Given the description of an element on the screen output the (x, y) to click on. 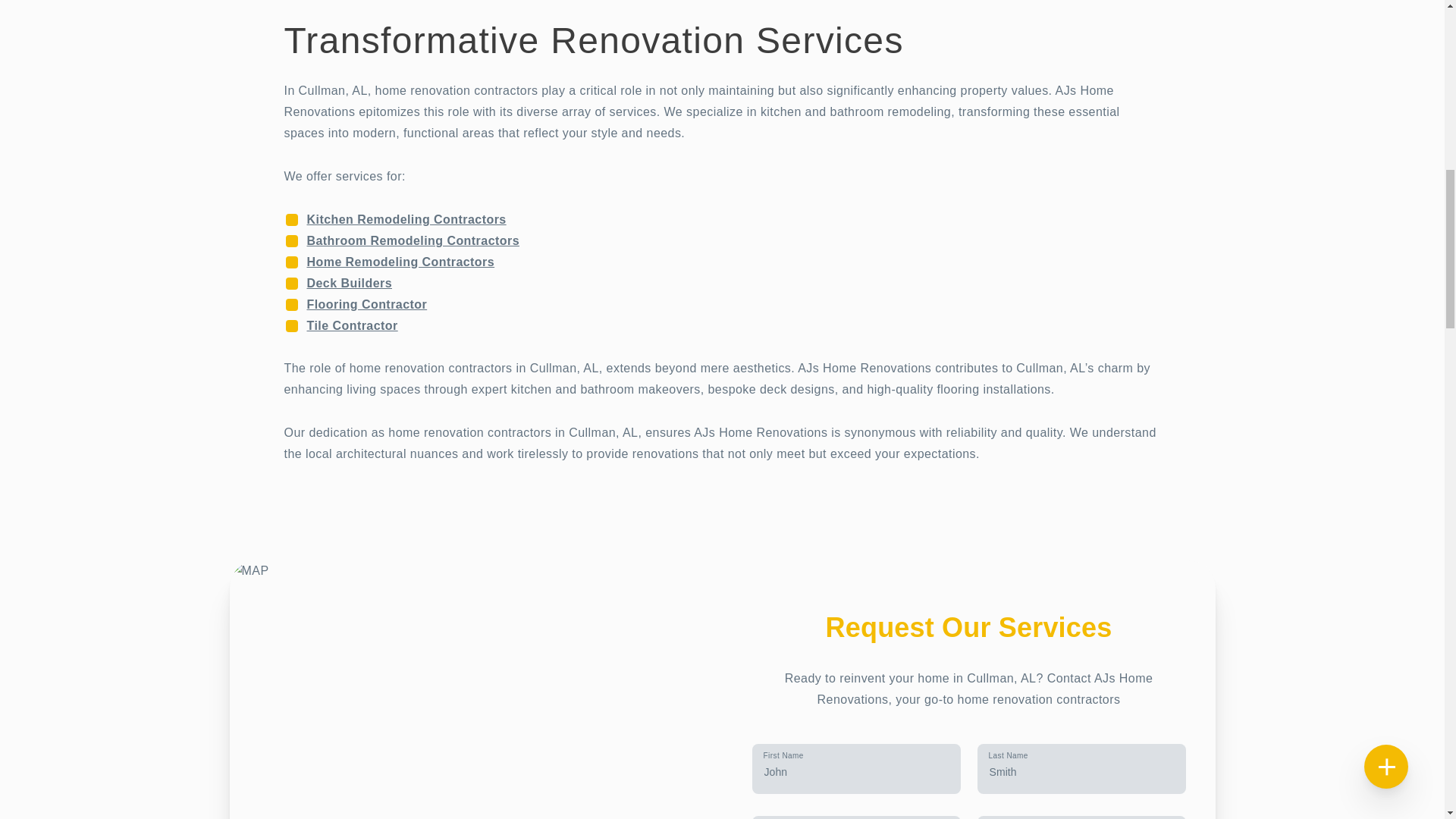
Bathroom Remodeling Contractors (411, 239)
Kitchen Remodeling Contractors (405, 218)
Tile Contractor (351, 324)
Home Remodeling Contractors (400, 260)
Deck Builders (348, 282)
Flooring Contractor (365, 303)
